Given the description of an element on the screen output the (x, y) to click on. 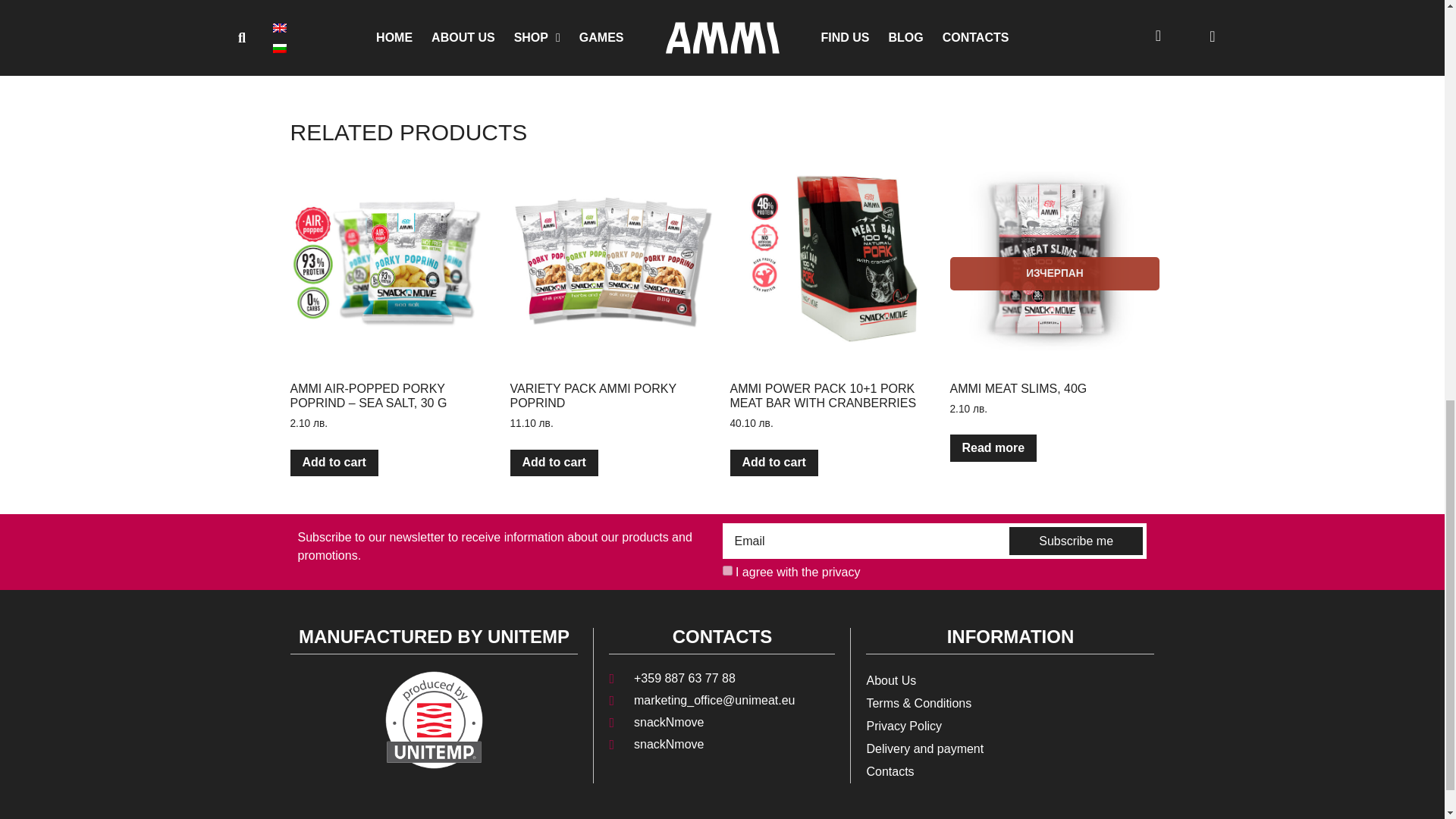
on (727, 570)
